Given the description of an element on the screen output the (x, y) to click on. 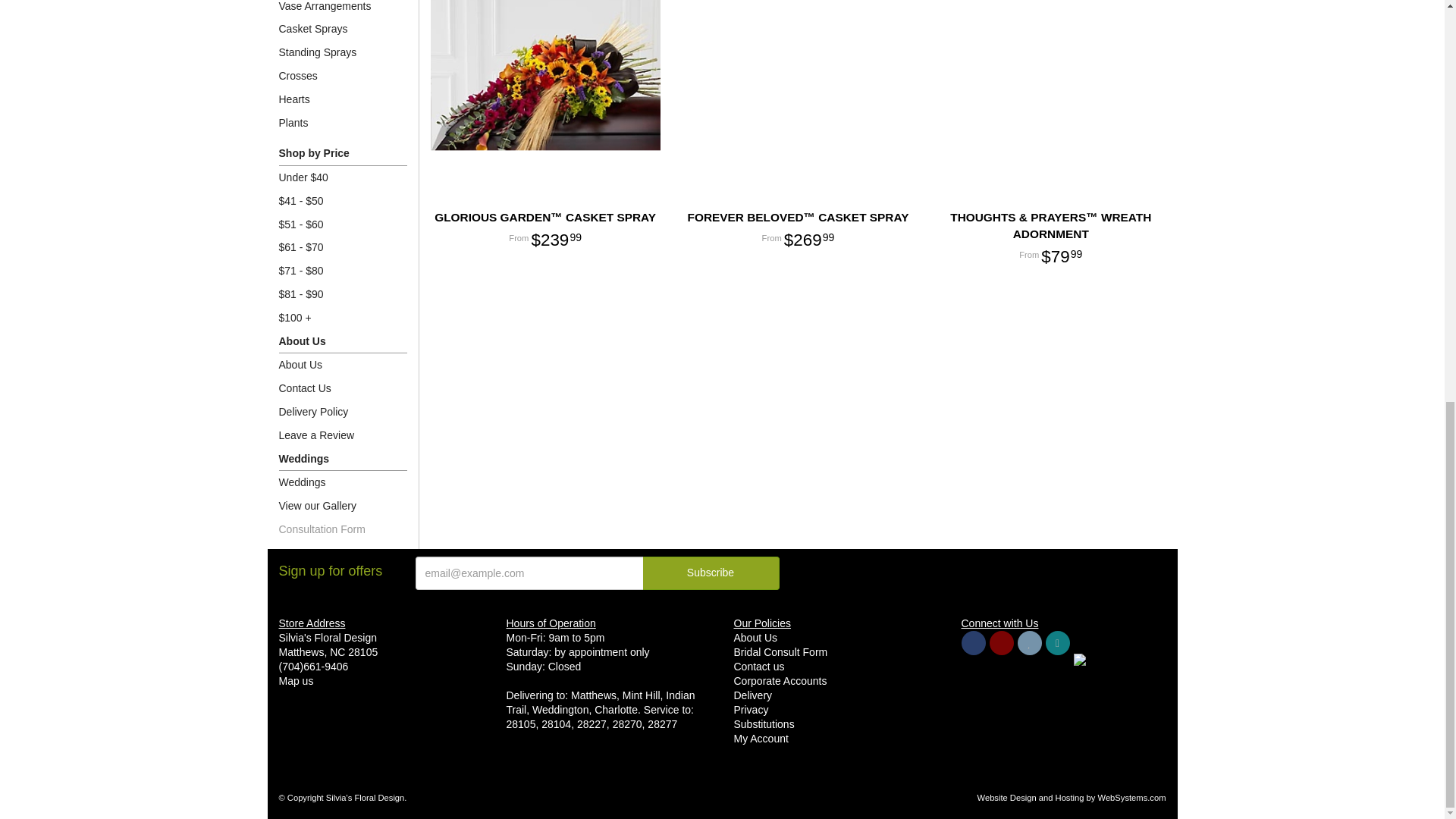
Subscribe (710, 572)
